Given the description of an element on the screen output the (x, y) to click on. 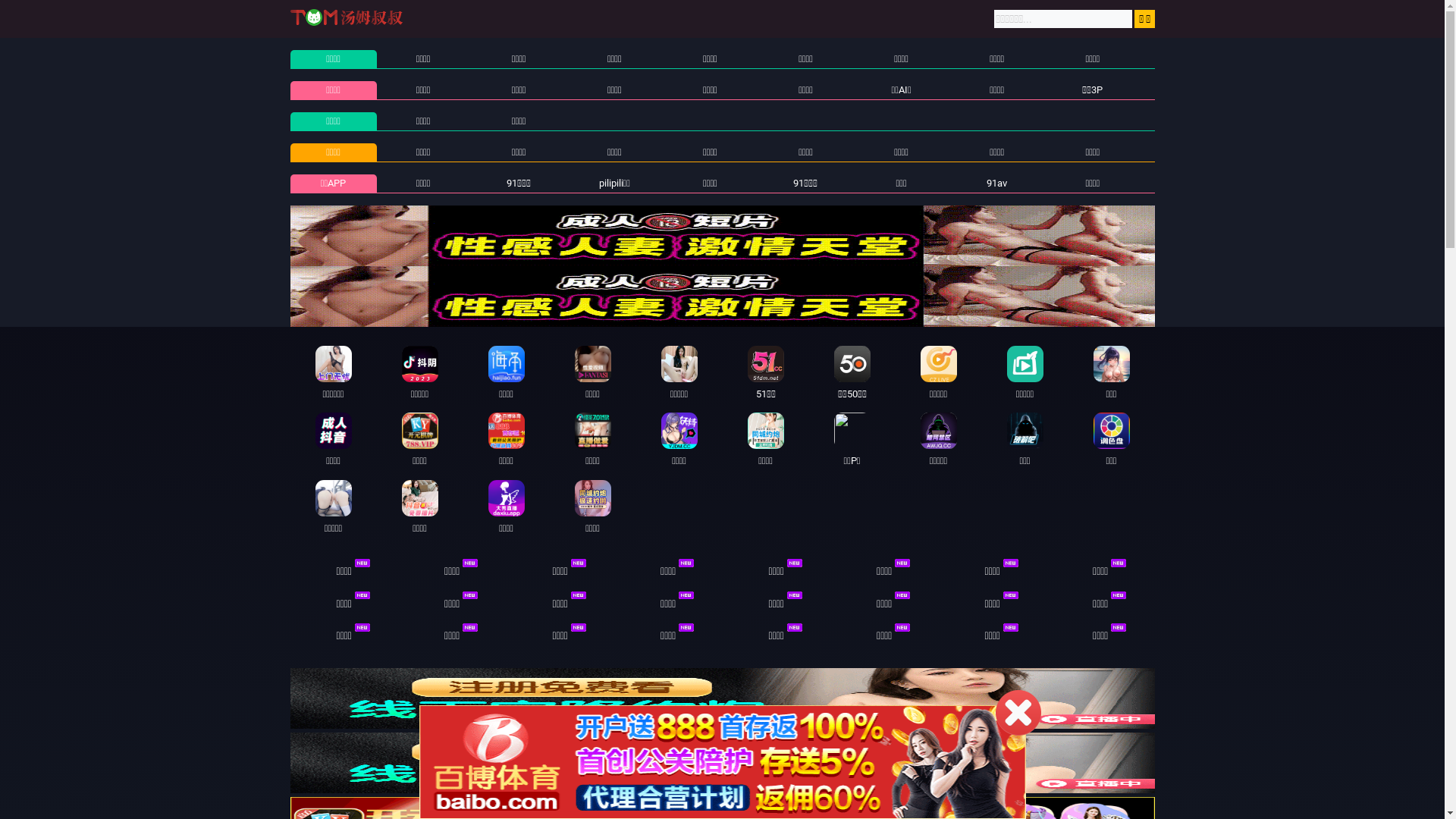
91av Element type: text (996, 182)
